Given the description of an element on the screen output the (x, y) to click on. 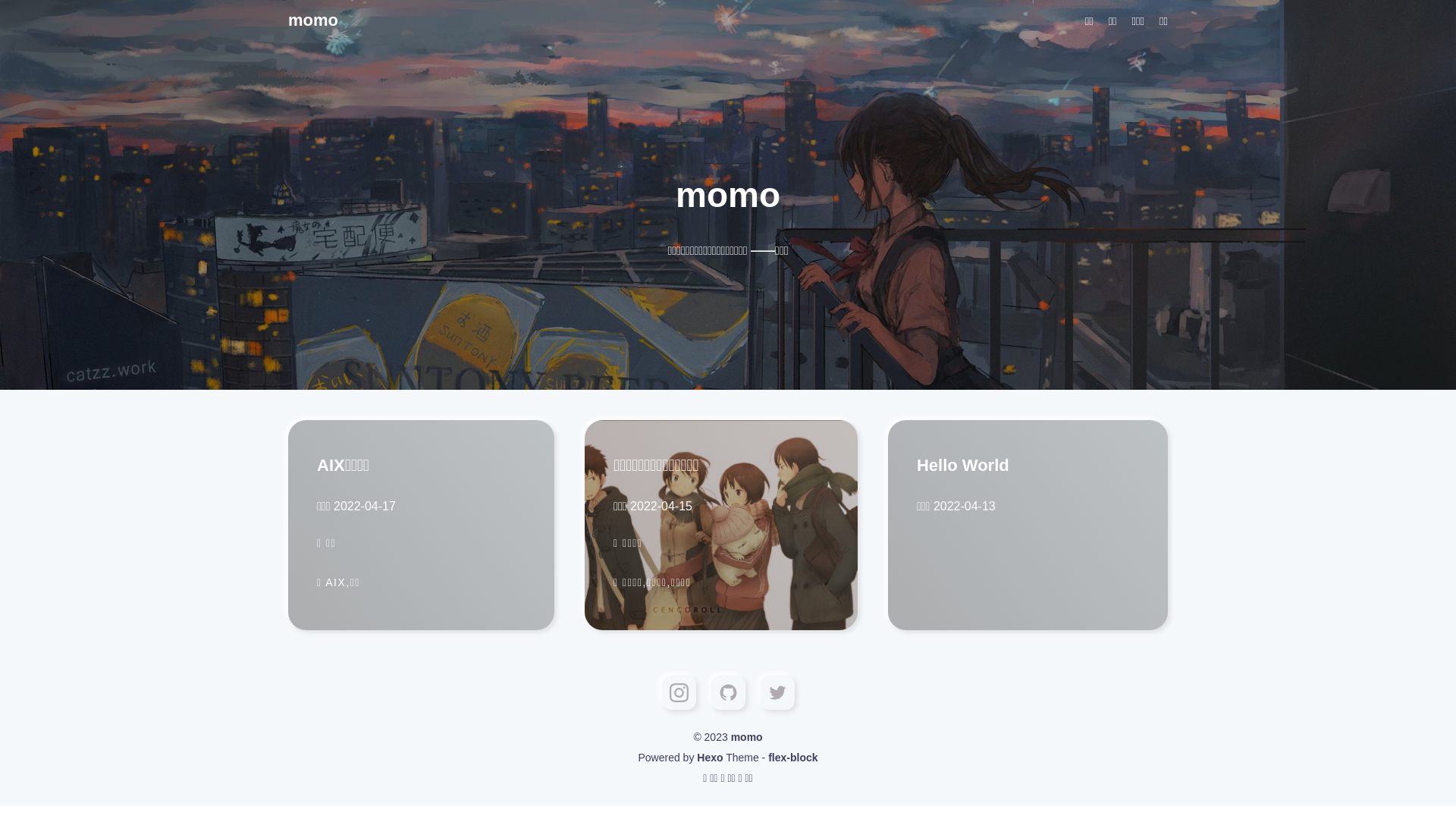
momo Element type: text (394, 20)
Hello World Element type: text (1027, 465)
flex-block Element type: text (792, 757)
Hexo Element type: text (709, 757)
momo Element type: text (746, 737)
